Given the description of an element on the screen output the (x, y) to click on. 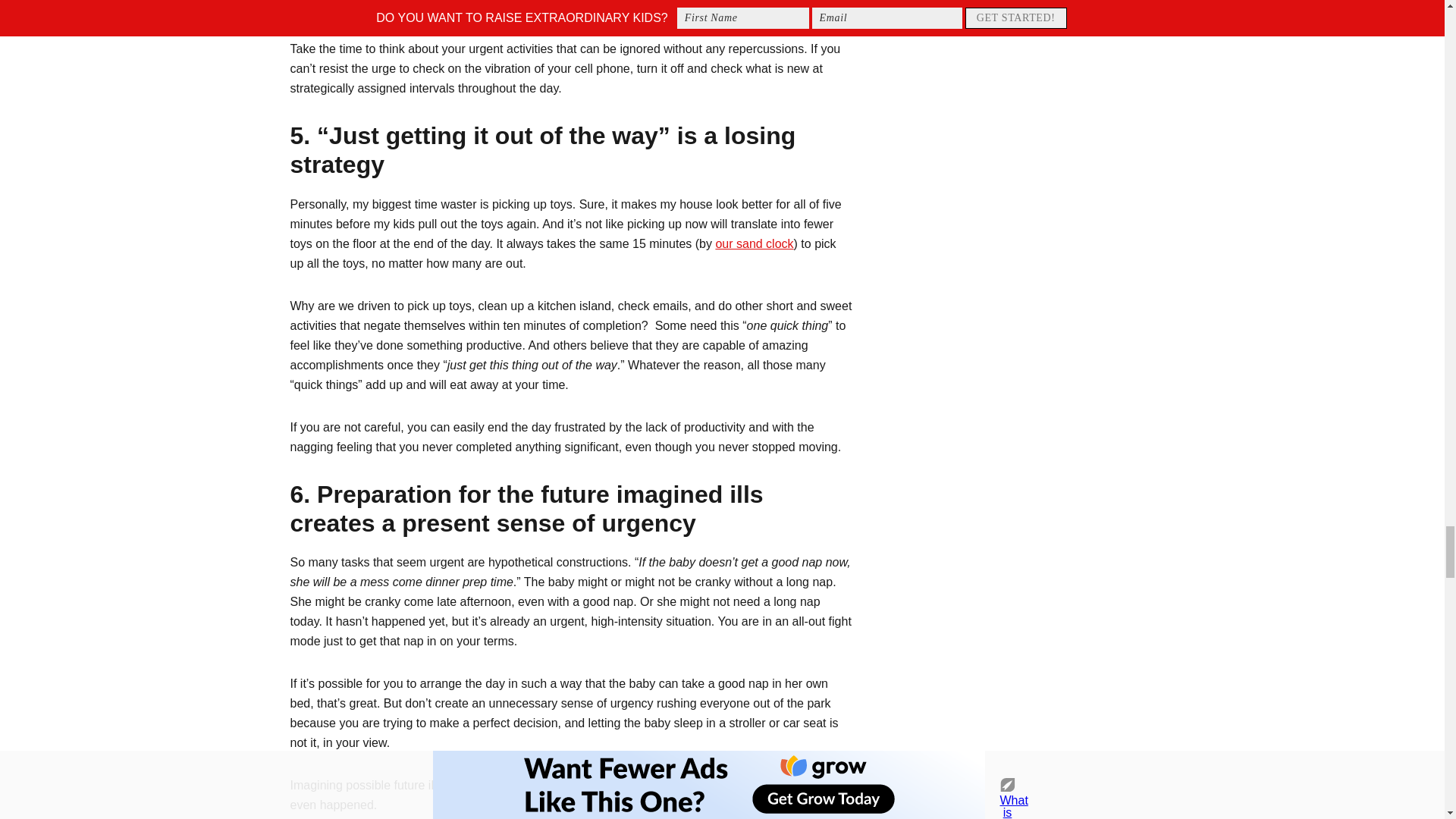
our sand clock (753, 243)
